Given the description of an element on the screen output the (x, y) to click on. 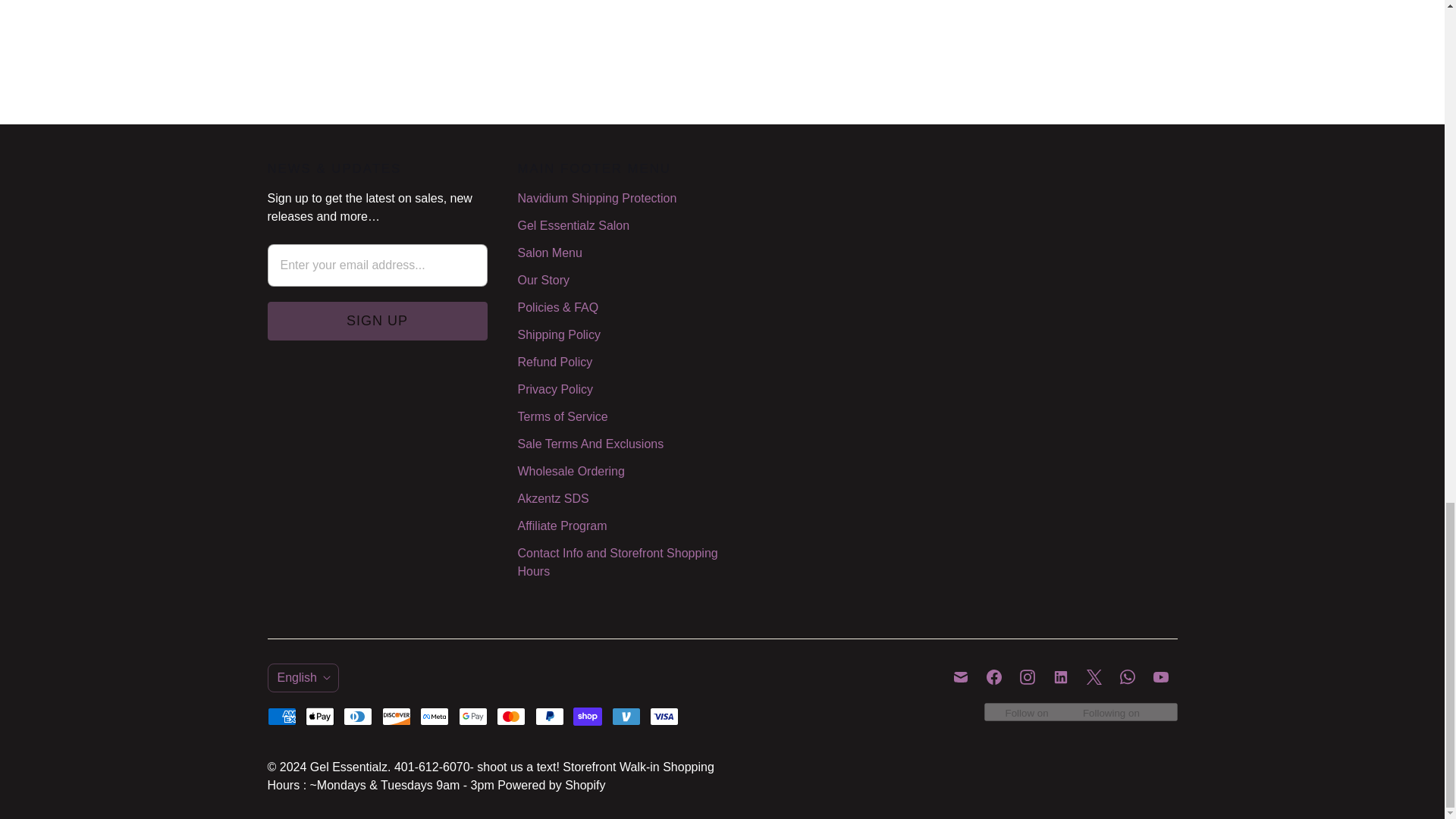
Mastercard (510, 716)
Apple Pay (319, 716)
Shop Pay (587, 716)
American Express (280, 716)
Visa (663, 716)
Discover (395, 716)
PayPal (549, 716)
Google Pay (472, 716)
Sign Up (376, 321)
Venmo (625, 716)
Diners Club (357, 716)
Meta Pay (434, 716)
